Given the description of an element on the screen output the (x, y) to click on. 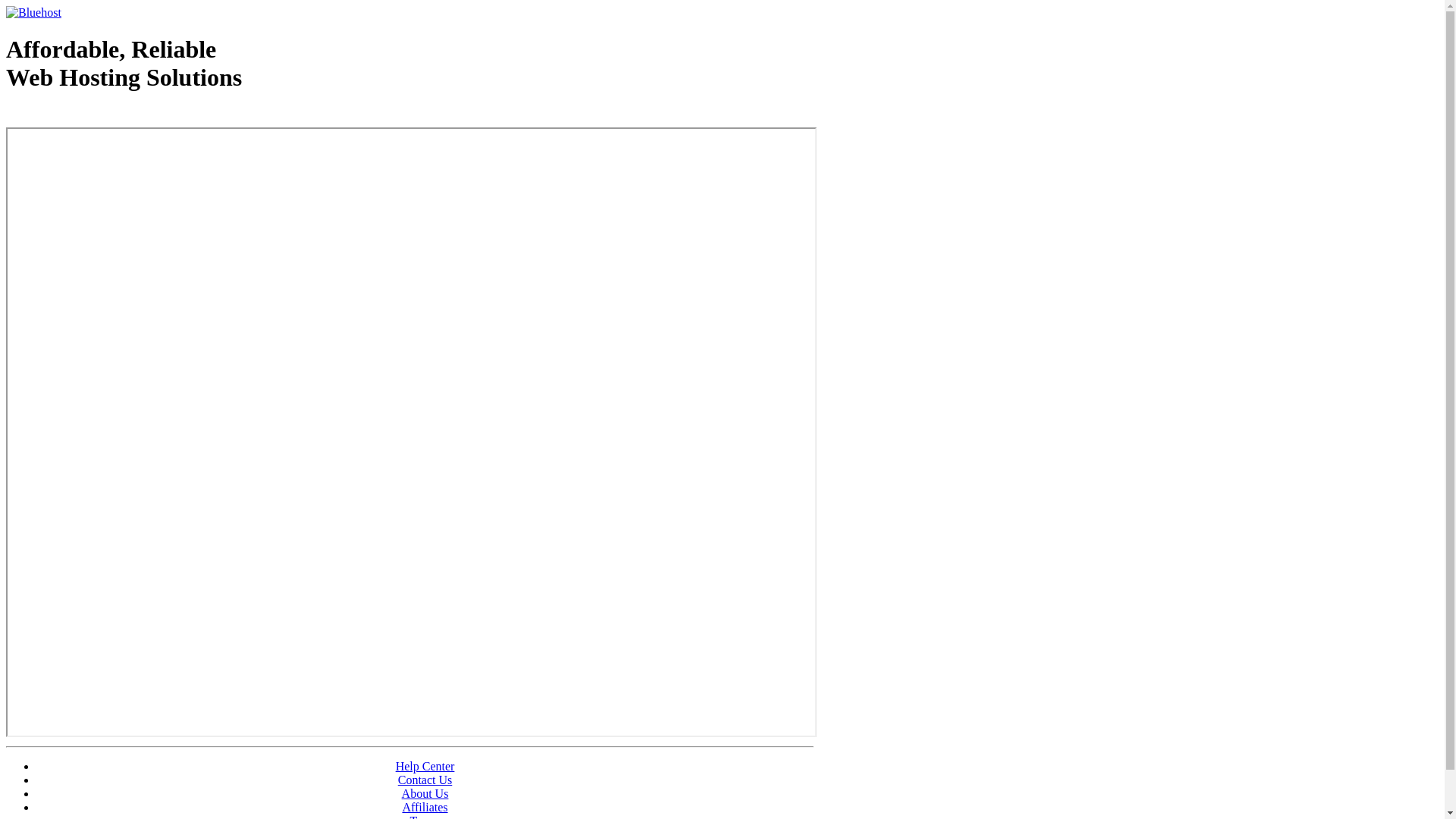
About Us Element type: text (424, 793)
Web Hosting - courtesy of www.bluehost.com Element type: text (94, 115)
Affiliates Element type: text (424, 806)
Contact Us Element type: text (425, 779)
Help Center Element type: text (425, 765)
